Given the description of an element on the screen output the (x, y) to click on. 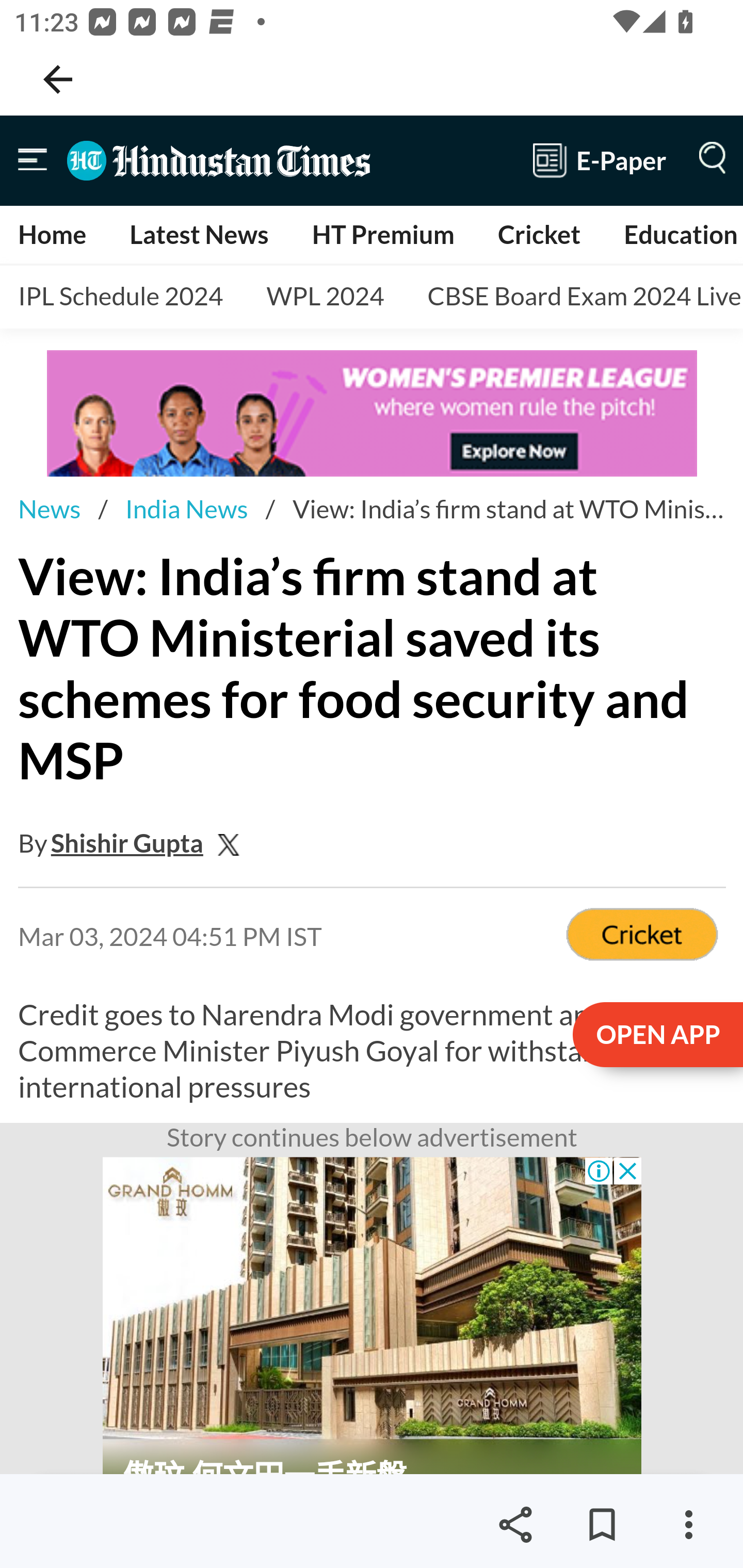
Navigate up (57, 79)
Menu Menu Menu Menu (708, 159)
E-Paper E-Paper E-Paper E-Paper E-Paper (599, 160)
Menu Menu (32, 160)
Home (52, 233)
Latest News (197, 233)
HT Premium (382, 233)
Cricket (538, 233)
Education (680, 233)
IPL Schedule 2024 (120, 297)
WPL 2024 (324, 297)
CBSE Board Exam 2024 Live (577, 297)
News (48, 508)
India News (186, 508)
Shishir Gupta (126, 842)
twitter (233, 843)
Cricket Page (641, 936)
OPEN APP (656, 1035)
Share (514, 1524)
Save for later (601, 1524)
More options (688, 1524)
